Given the description of an element on the screen output the (x, y) to click on. 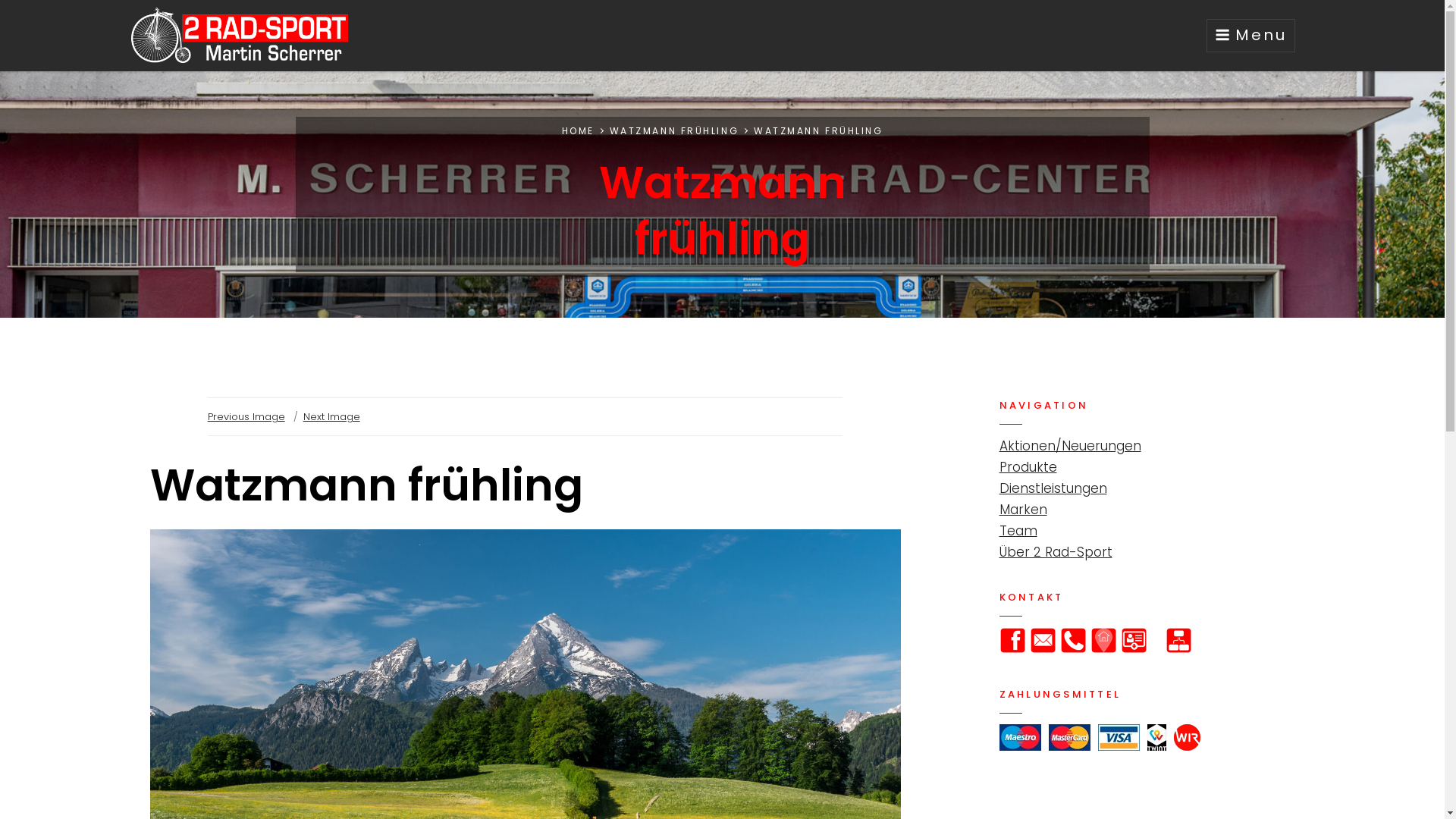
HOME Element type: text (577, 130)
Produkte Element type: text (1028, 467)
Dienstleistungen Element type: text (1053, 488)
Team Element type: text (1018, 530)
Previous Image Element type: text (246, 416)
2 RAD-SPORT Element type: text (442, 49)
Next Image Element type: text (331, 416)
Marken Element type: text (1023, 509)
Aktionen/Neuerungen Element type: text (1070, 445)
Menu Element type: text (1249, 35)
